Given the description of an element on the screen output the (x, y) to click on. 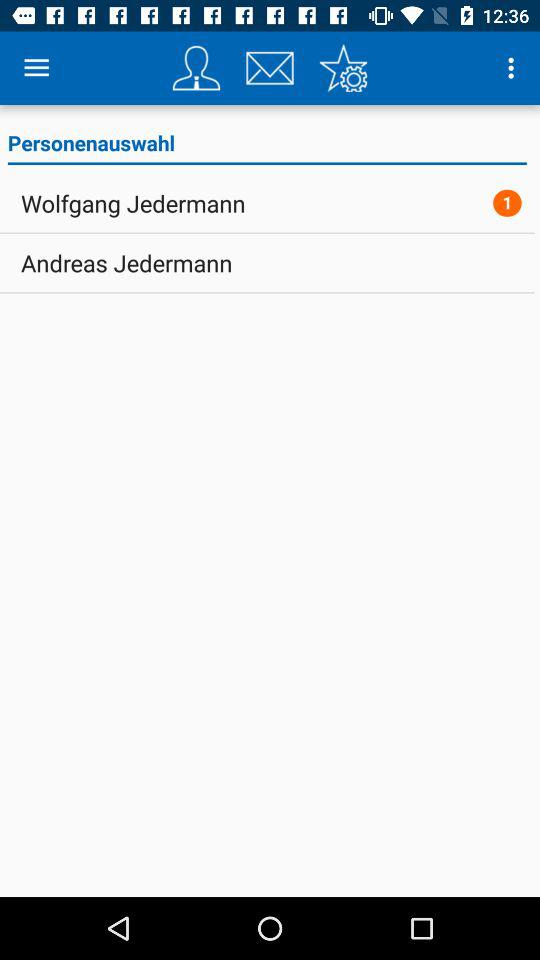
turn off item above the wolfgang jedermann icon (266, 146)
